Given the description of an element on the screen output the (x, y) to click on. 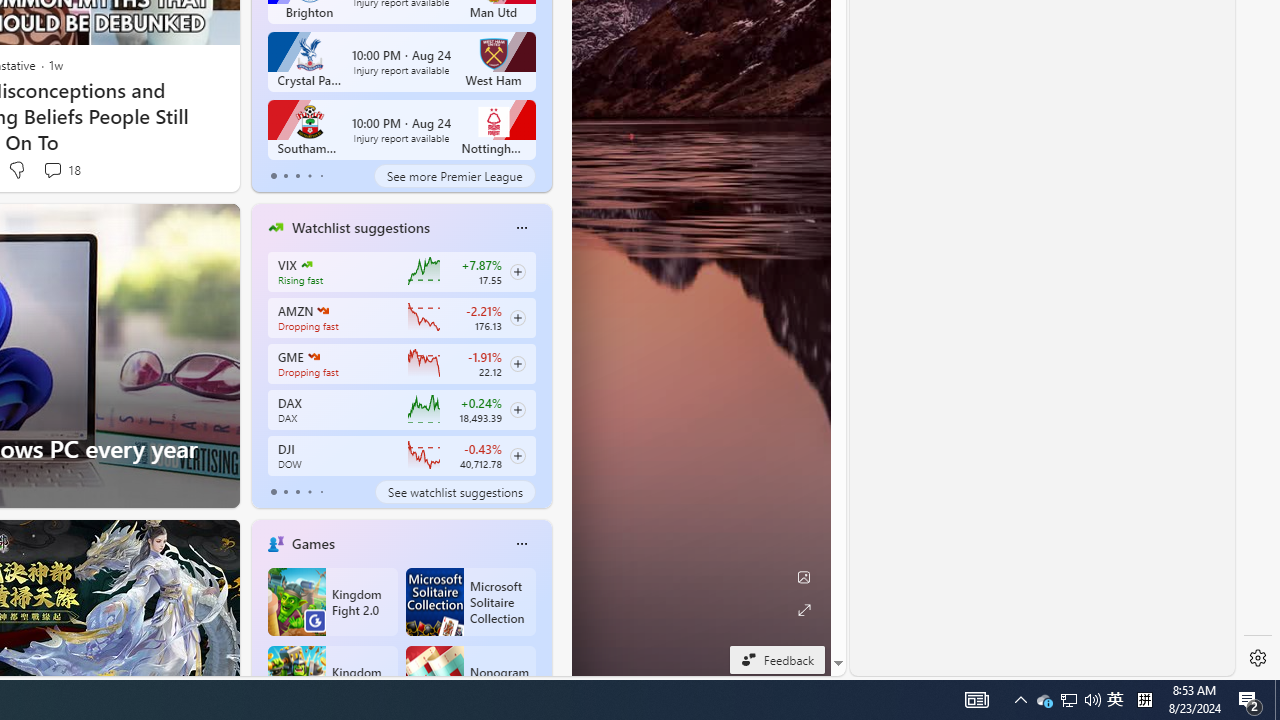
See watchlist suggestions (454, 491)
